Given the description of an element on the screen output the (x, y) to click on. 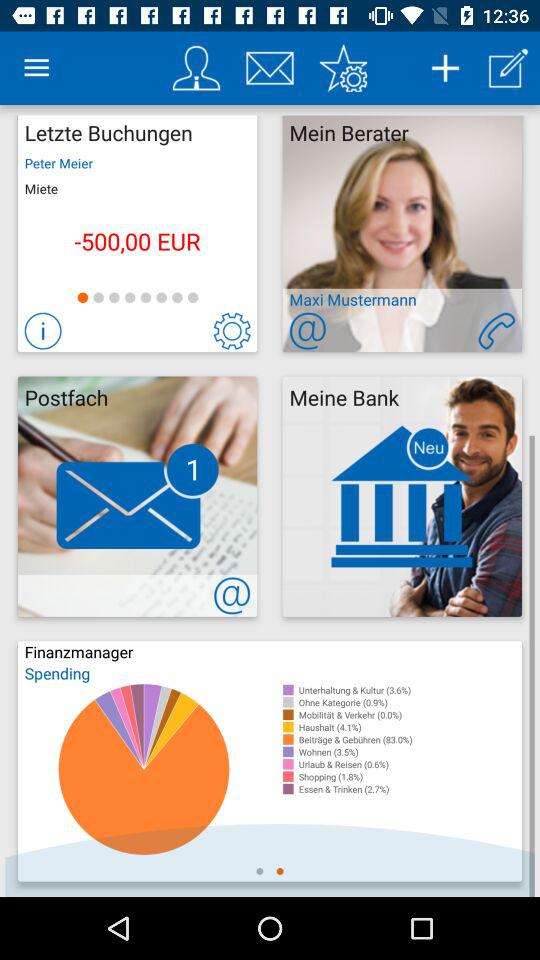
swipe to wohnen (3.5%) icon (409, 751)
